Given the description of an element on the screen output the (x, y) to click on. 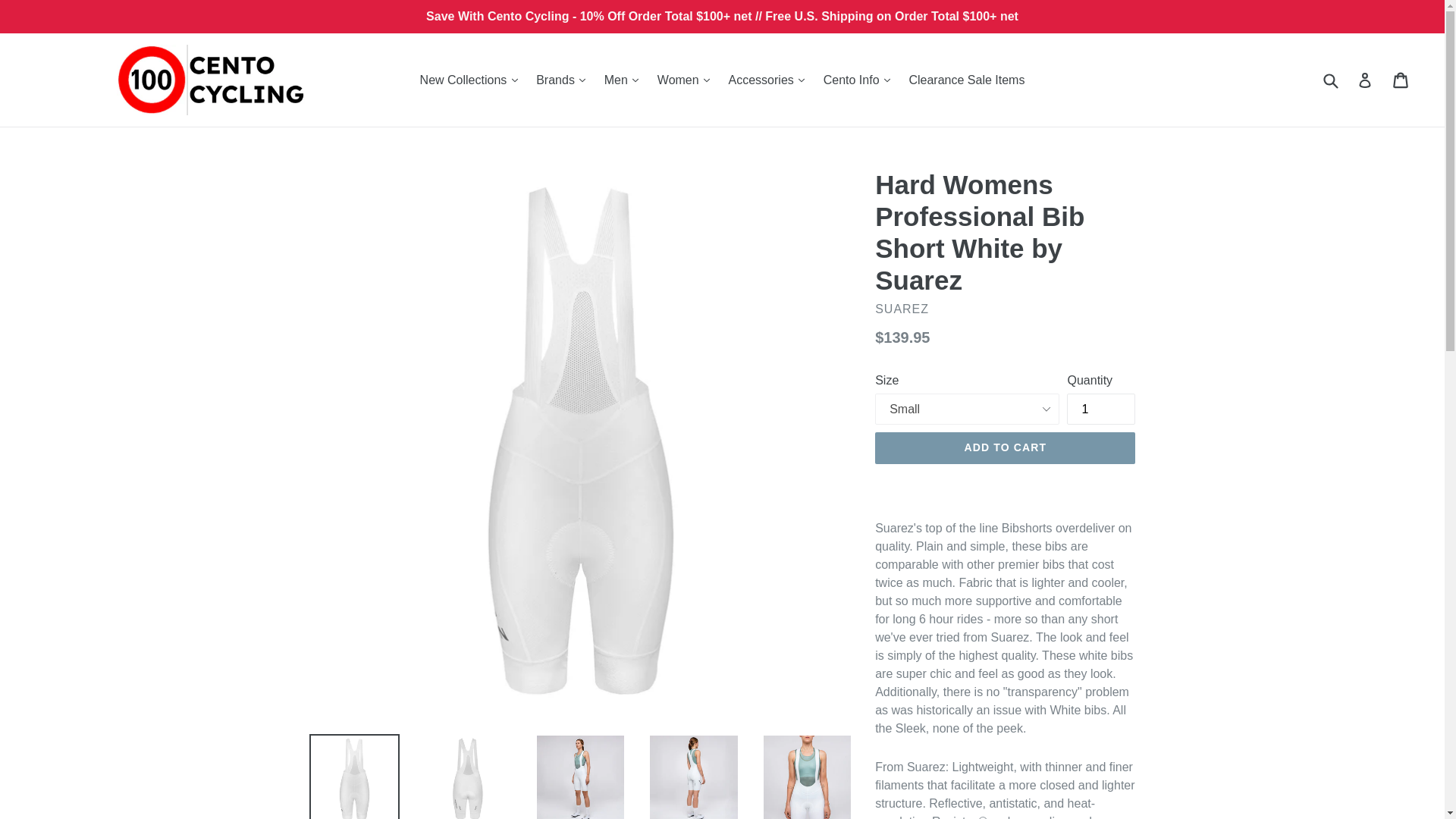
1 (1101, 409)
